Given the description of an element on the screen output the (x, y) to click on. 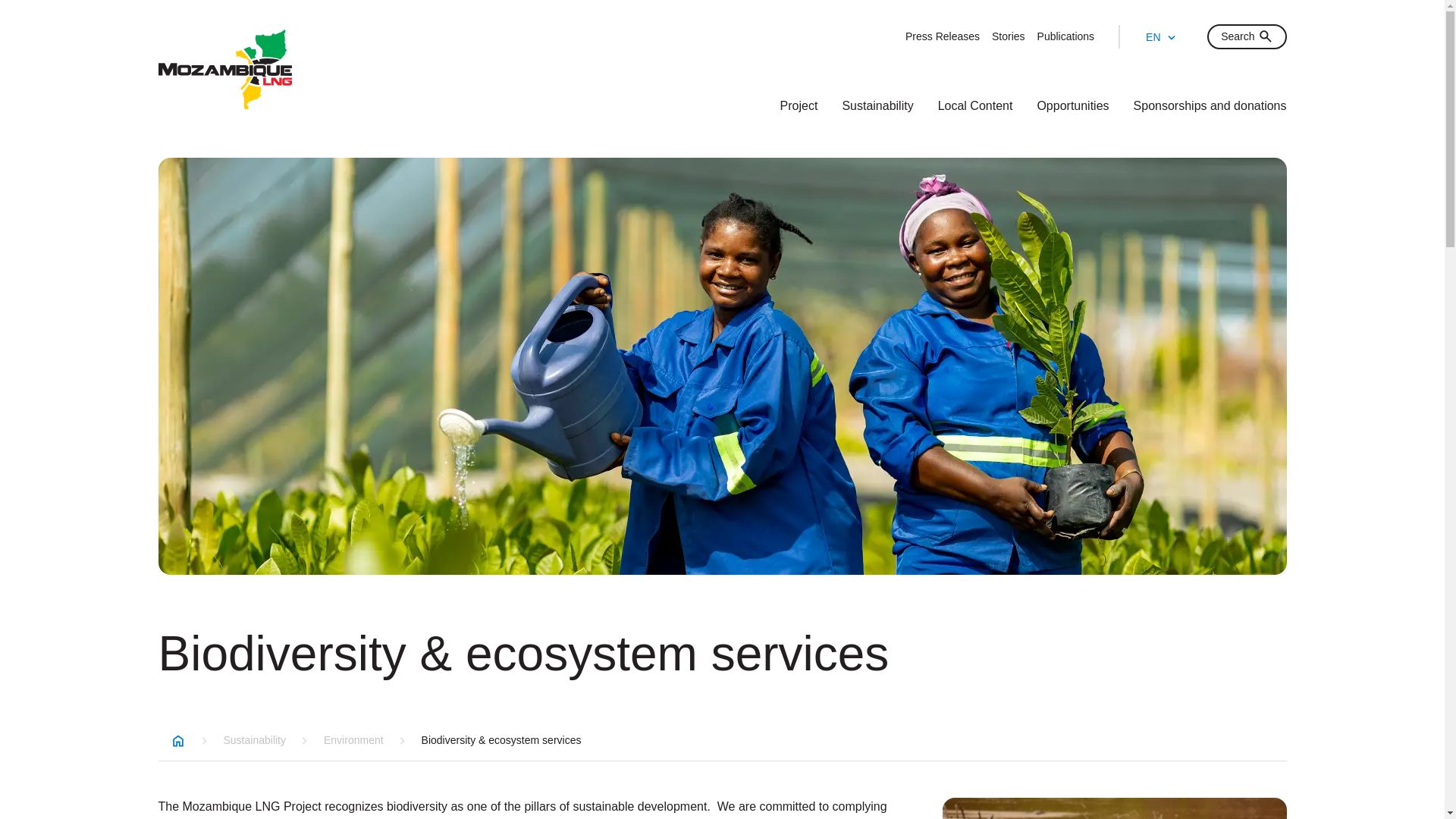
EN (1160, 37)
Sustainability (253, 739)
Search (1246, 36)
Local Content menu (975, 105)
Stories (1008, 36)
Opportunities menu (1072, 105)
Sustainability Menu (876, 105)
Project Menu (799, 105)
Mozambique logo (224, 69)
Press Releases (942, 36)
Publications (1065, 36)
Environment (353, 739)
Sustainability (876, 105)
Project (799, 105)
